Given the description of an element on the screen output the (x, y) to click on. 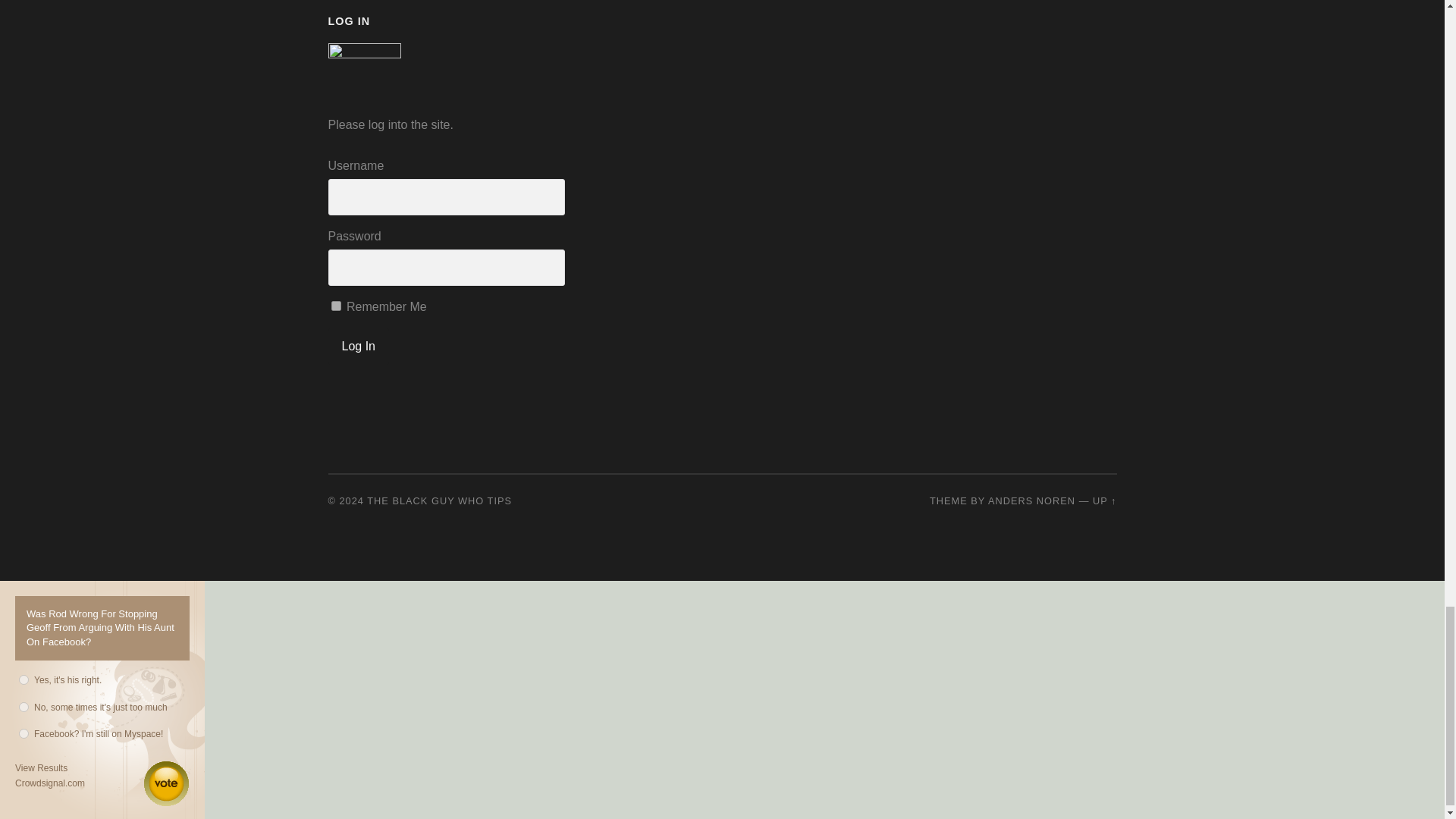
24586996 (23, 733)
24586995 (23, 706)
Log In (357, 346)
To the top (1104, 500)
24586994 (23, 679)
forever (335, 306)
